Given the description of an element on the screen output the (x, y) to click on. 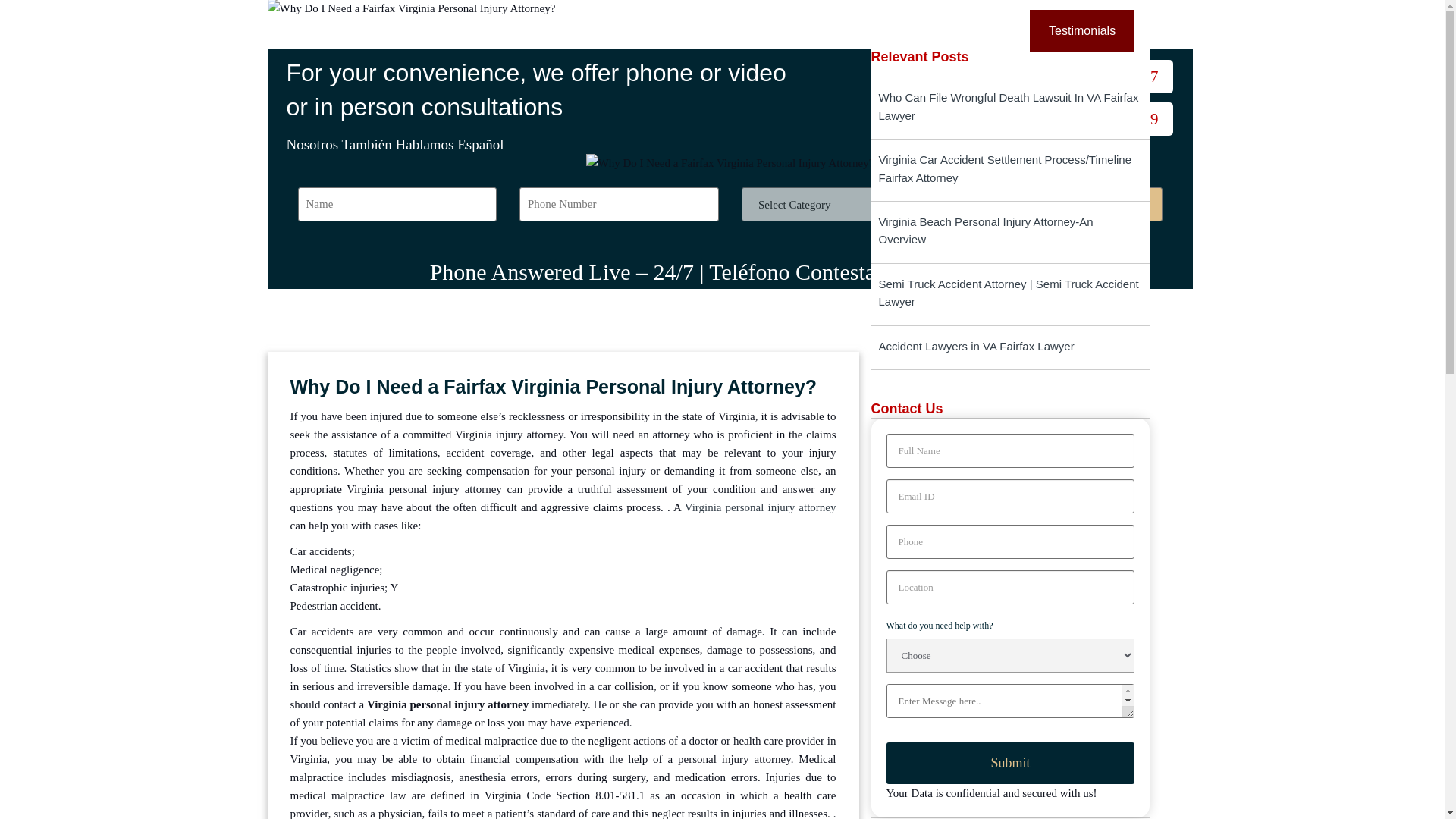
Virginia personal injury attorney (759, 506)
1 800 5190549 (1091, 118)
Find a lawyer (1061, 204)
Resources (783, 29)
Submit (1009, 762)
Home (523, 29)
Blog (702, 29)
Our Team (880, 29)
Testimonials (1081, 29)
888-437-7747 (1093, 76)
